Given the description of an element on the screen output the (x, y) to click on. 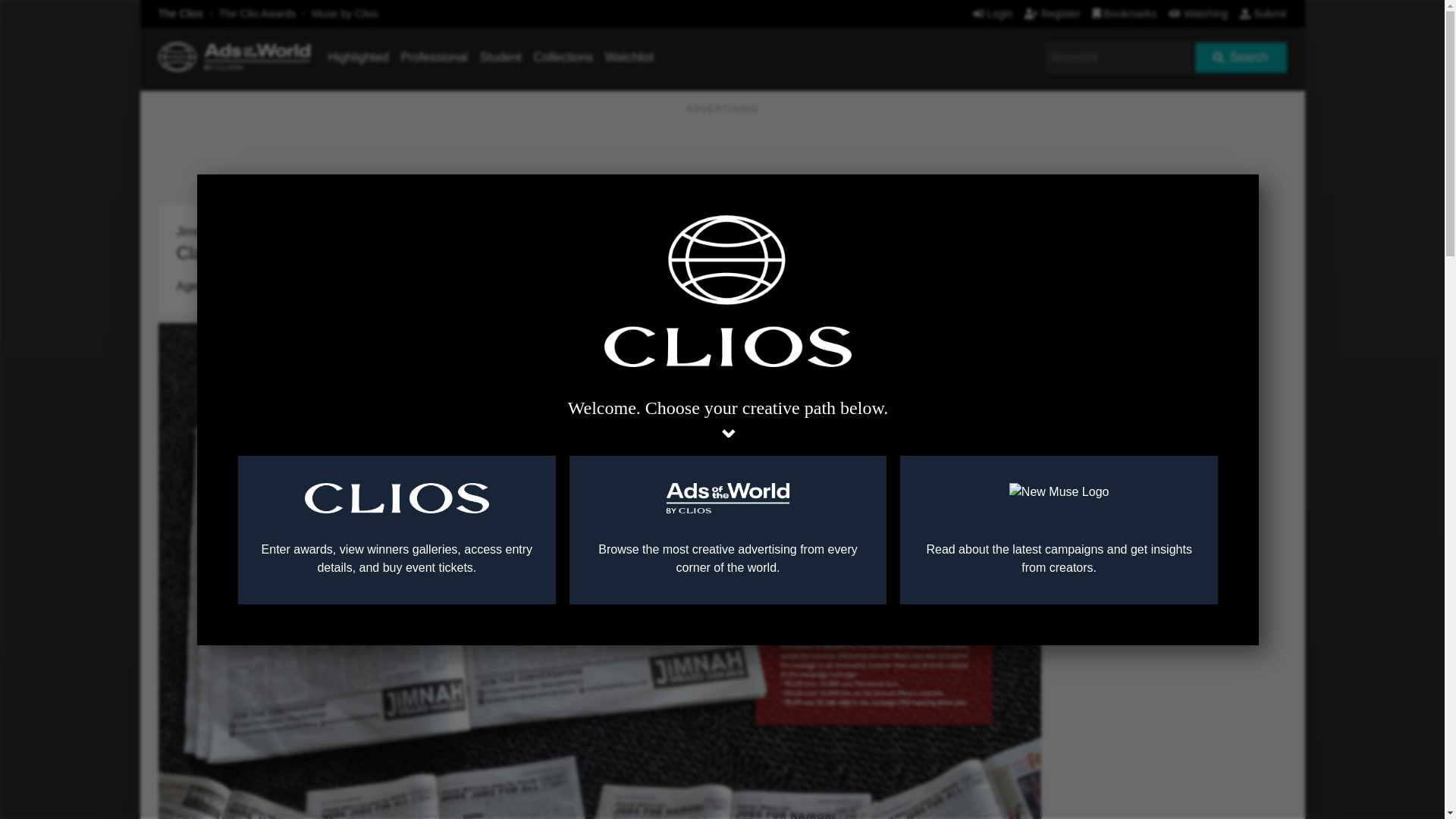
Login to Bookmark (1018, 209)
Muse by Clios (344, 13)
Professional (434, 56)
Submit (1263, 13)
Student (500, 56)
Watchlist (629, 56)
Collections (563, 56)
Search (1241, 57)
Bookmarks (1125, 13)
Login (991, 13)
Watching (1198, 13)
The Clio Awards (258, 13)
Bookmarks (1125, 13)
Register (1052, 13)
Watching (1198, 13)
